Given the description of an element on the screen output the (x, y) to click on. 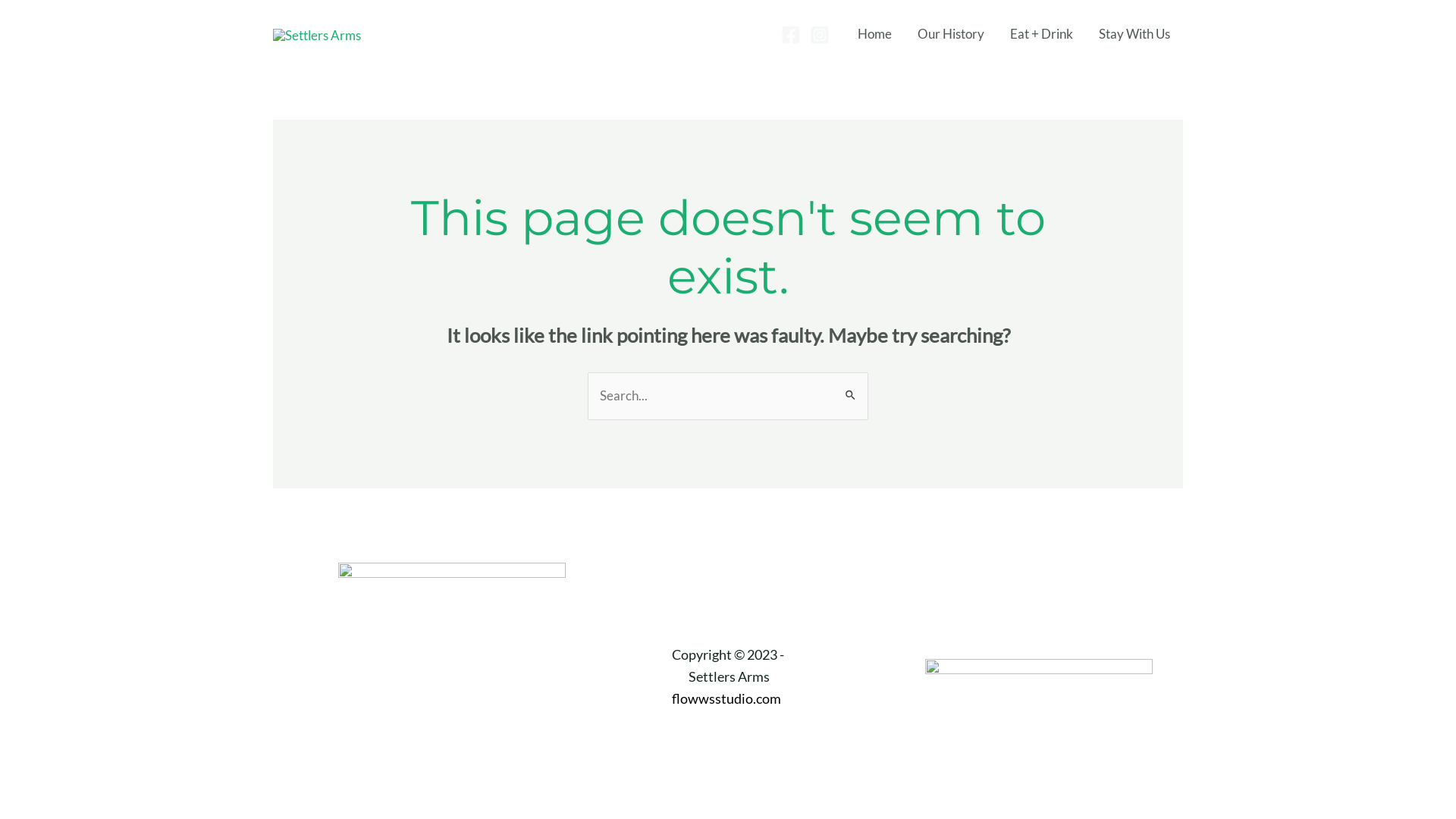
Home Element type: text (874, 33)
Eat + Drink Element type: text (1041, 33)
Search Element type: text (851, 387)
flowwsstudio.com  Element type: text (727, 698)
Our History Element type: text (950, 33)
Stay With Us Element type: text (1134, 33)
